Given the description of an element on the screen output the (x, y) to click on. 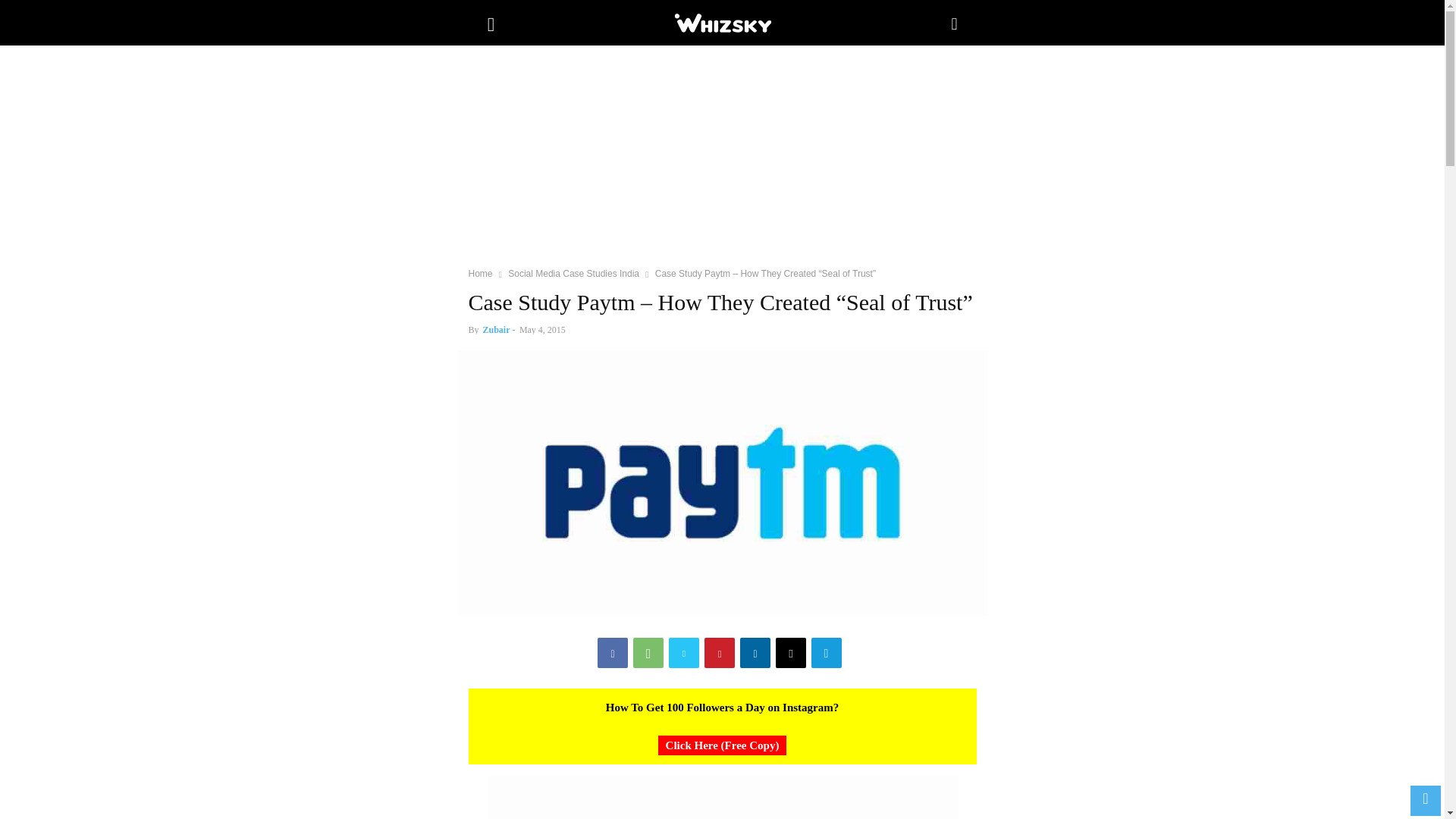
Zubair (497, 329)
View all posts in Social Media Case Studies India (573, 273)
Home (480, 273)
Pinterest (719, 653)
3rd party ad content (721, 162)
Twitter (683, 653)
Social Media Case Studies India (573, 273)
Logo (721, 22)
WhatsApp (648, 653)
Facebook (611, 653)
Logo (722, 22)
Email (791, 653)
Telegram (825, 653)
Linkedin (754, 653)
